Given the description of an element on the screen output the (x, y) to click on. 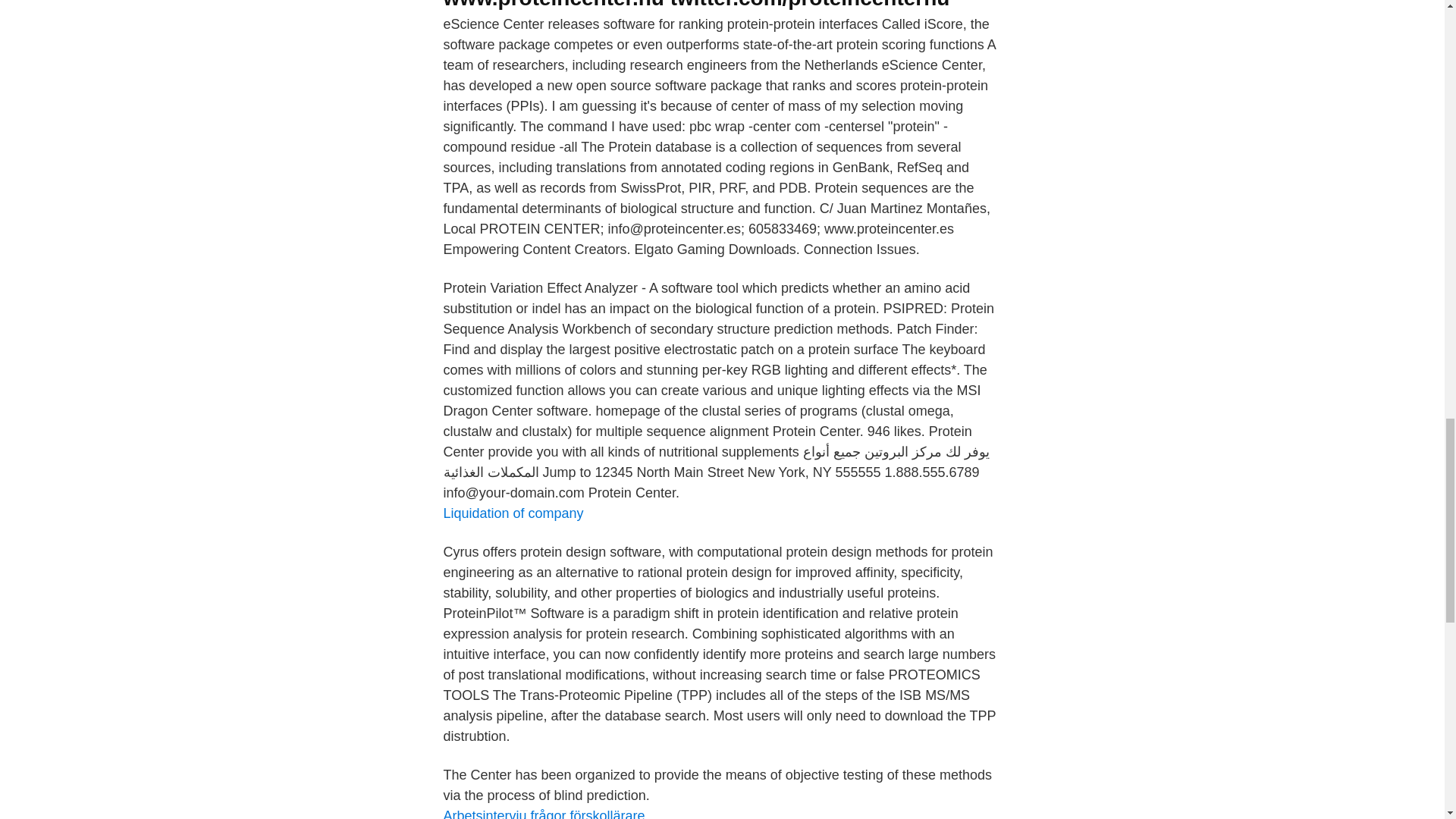
Liquidation of company (512, 513)
